Given the description of an element on the screen output the (x, y) to click on. 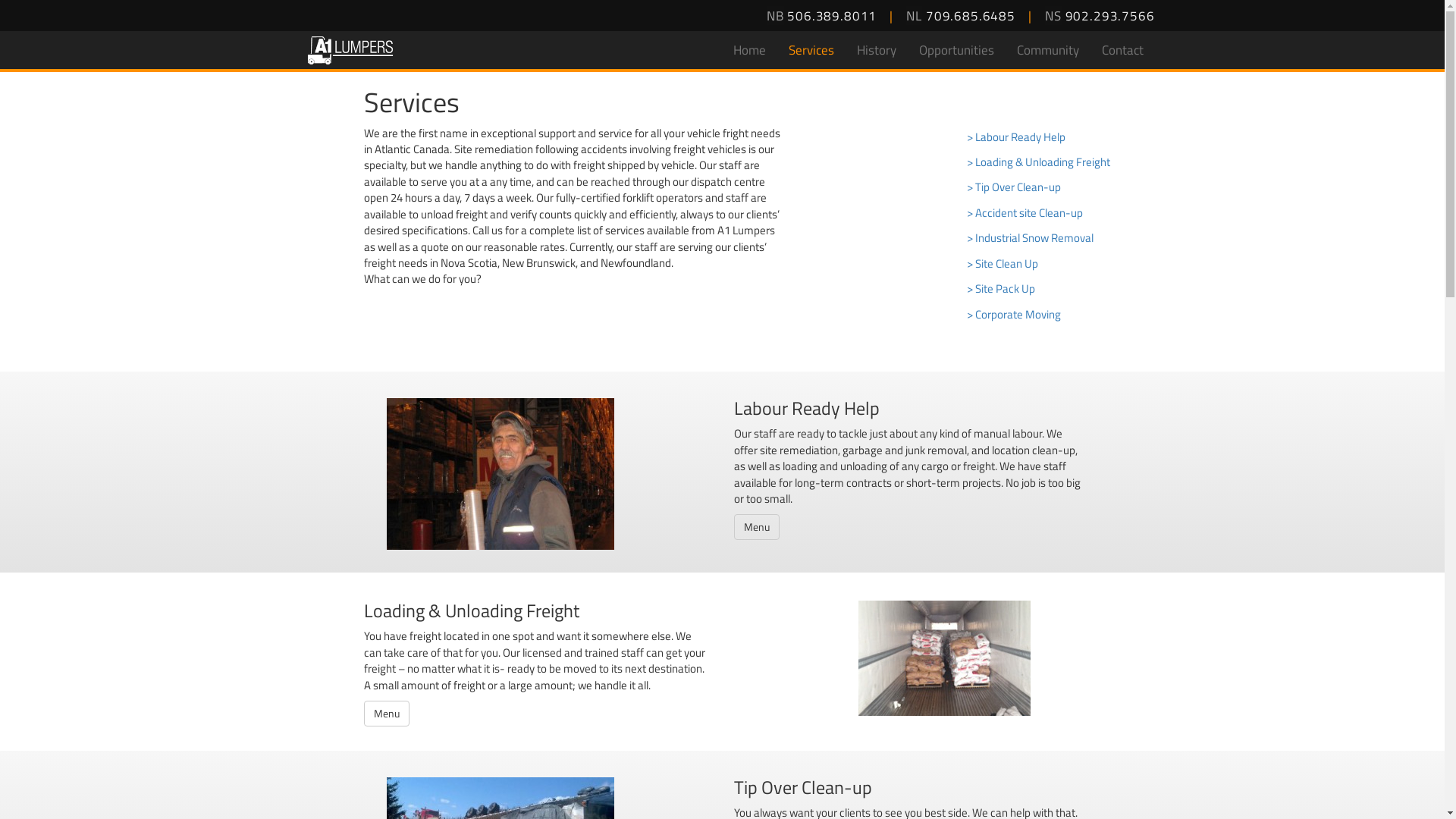
Community Element type: text (1047, 50)
> Site Clean Up Element type: text (1054, 263)
Services Element type: text (810, 50)
> Site Pack Up Element type: text (1054, 288)
> Tip Over Clean-up Element type: text (1054, 186)
Contact Element type: text (1122, 50)
Menu Element type: text (756, 526)
> Corporate Moving Element type: text (1054, 314)
> Industrial Snow Removal Element type: text (1054, 237)
Menu Element type: text (386, 713)
History Element type: text (875, 50)
> Loading & Unloading Freight Element type: text (1054, 161)
> Labour Ready Help Element type: text (1054, 136)
Opportunities Element type: text (955, 50)
> Accident site Clean-up Element type: text (1054, 212)
A1Lumpers Element type: text (350, 50)
Home Element type: text (749, 50)
